Given the description of an element on the screen output the (x, y) to click on. 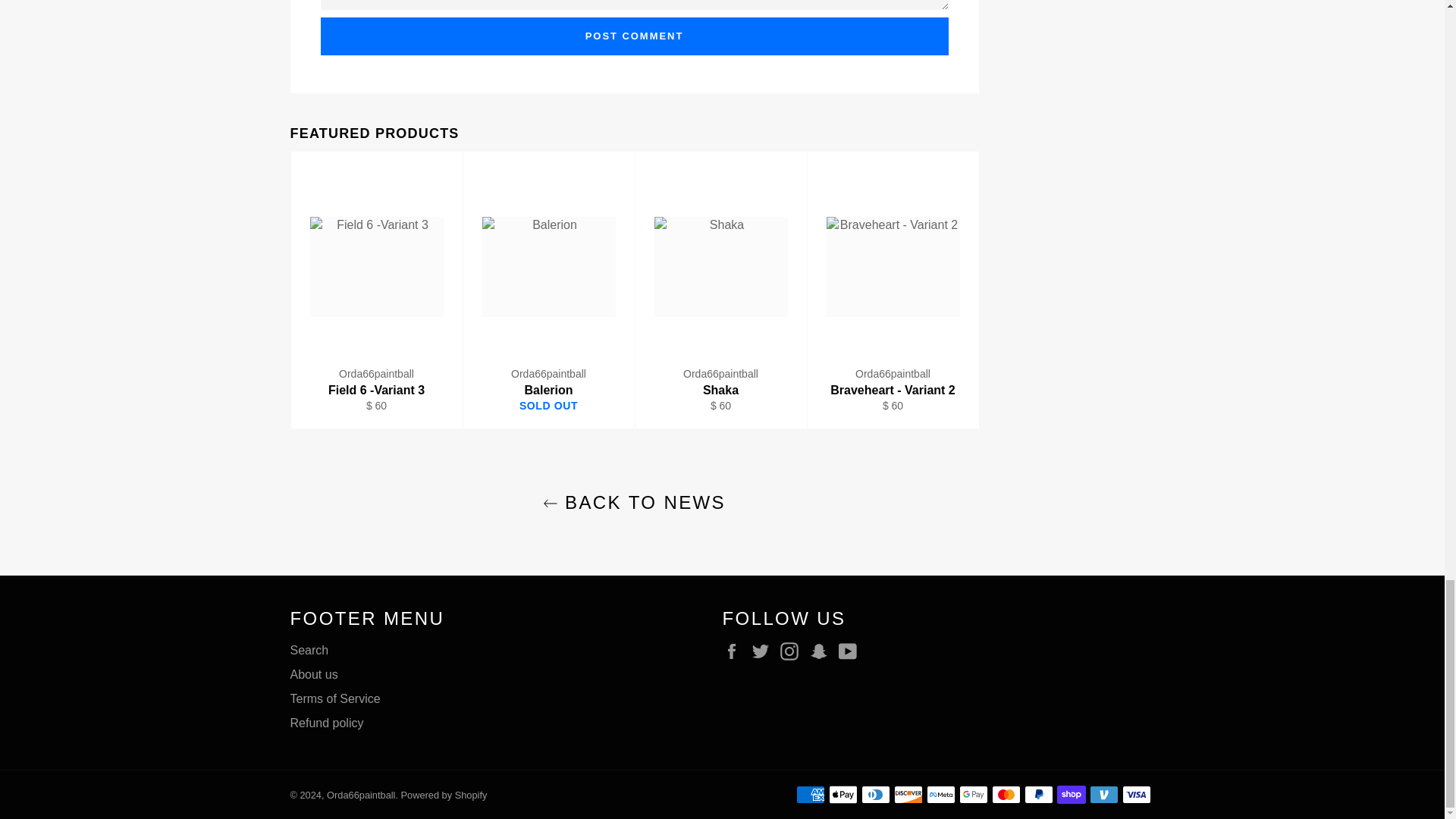
Orda66paintball on Twitter (764, 651)
Orda66paintball on Facebook (735, 651)
Post comment (633, 36)
